Given the description of an element on the screen output the (x, y) to click on. 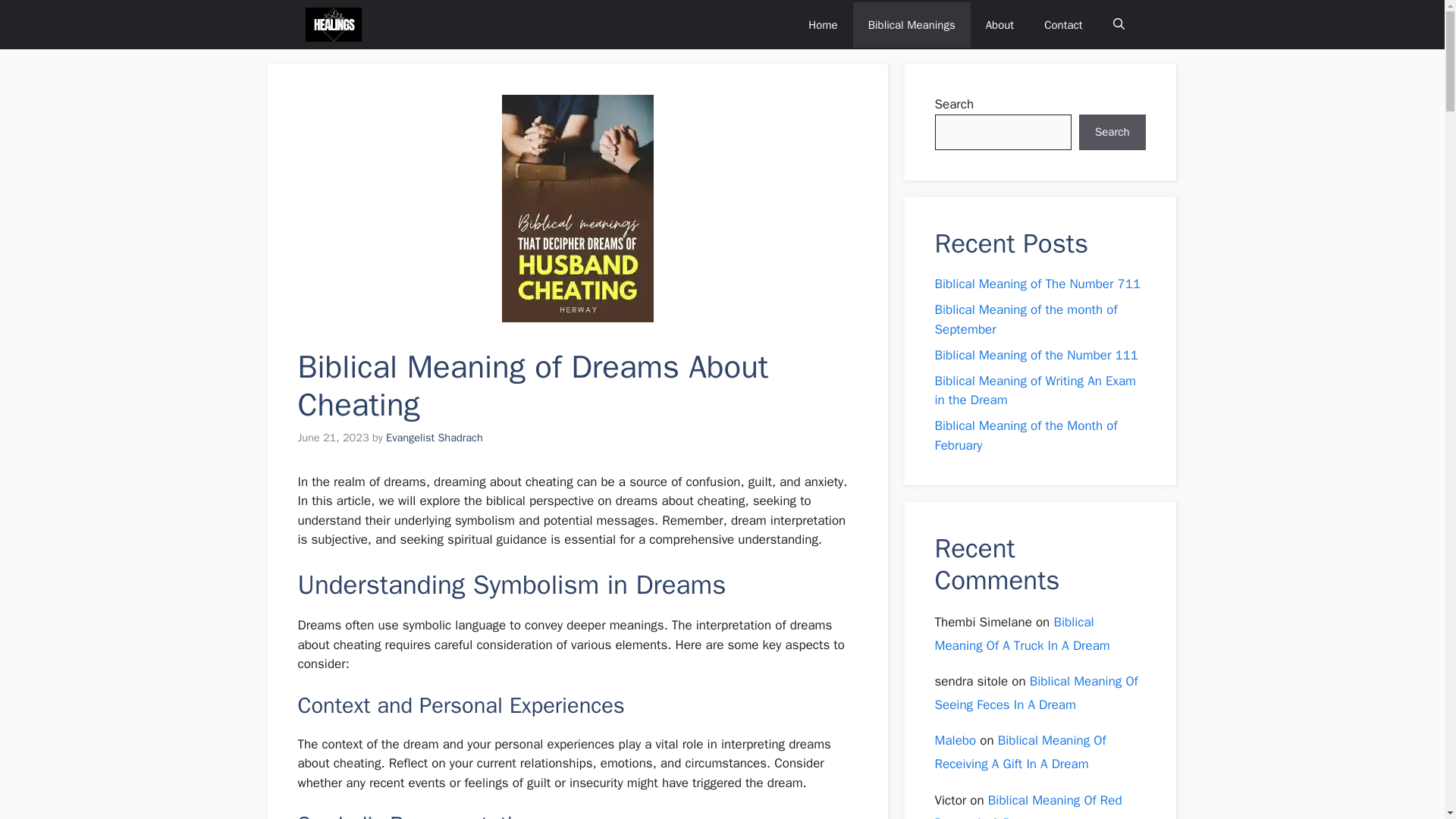
Biblical Meaning of Writing An Exam in the Dream (1034, 390)
Contact (1063, 23)
Biblical Meanings (912, 23)
Biblical Meaning Of Red Pepper In A Dream (1027, 805)
Malebo (954, 740)
View all posts by Evangelist Shadrach (434, 437)
Home (822, 23)
Biblical Meaning Of Seeing Feces In A Dream (1035, 692)
Search (1111, 131)
Biblical Meaning of the month of September (1025, 319)
About (1000, 23)
AllHealings.com (332, 24)
Biblical Meaning of the Number 111 (1036, 355)
Biblical Meaning Of Receiving A Gift In A Dream (1019, 752)
Biblical Meaning of the Month of February (1025, 435)
